Given the description of an element on the screen output the (x, y) to click on. 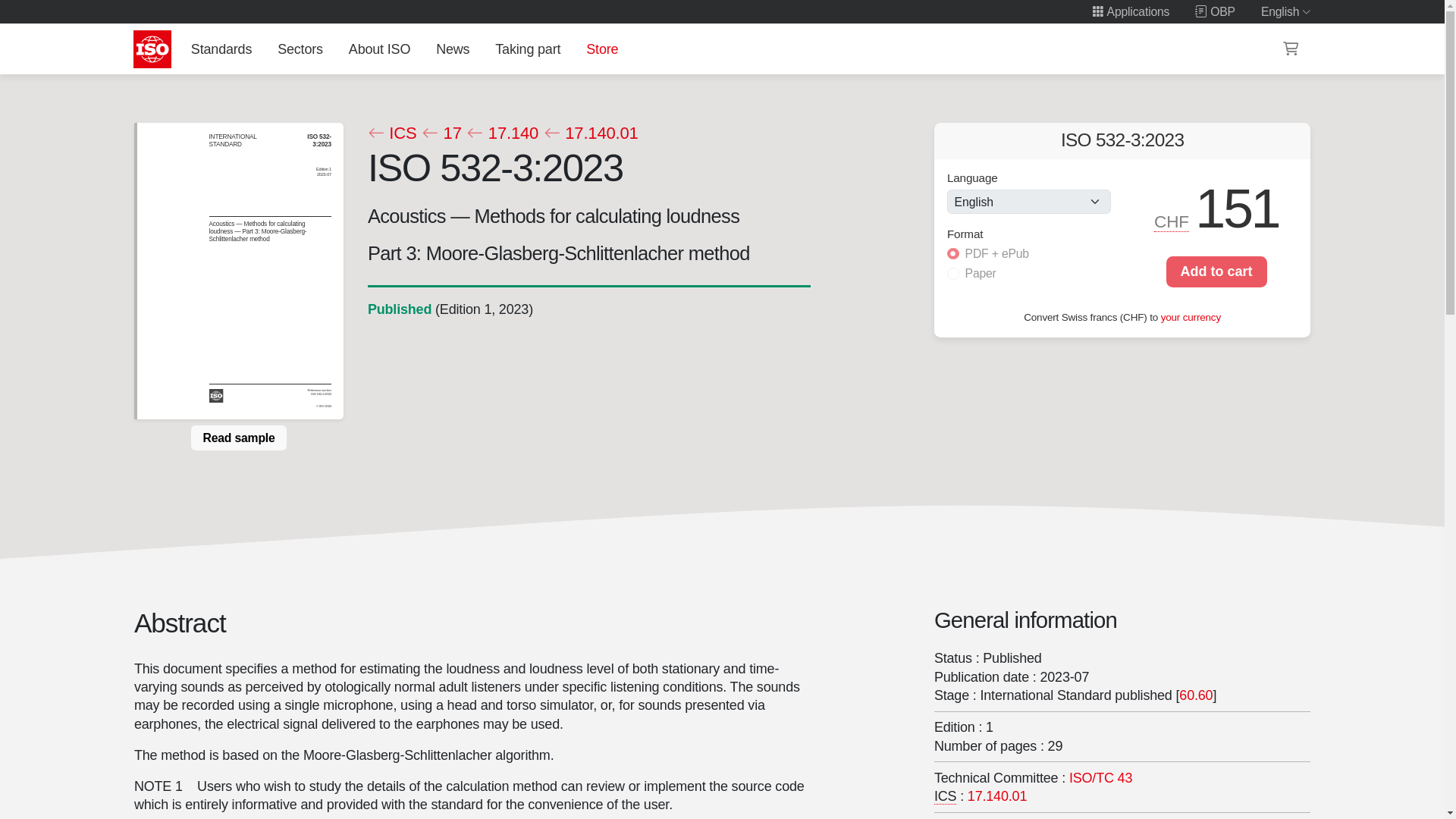
ISO's applications portal (1130, 11)
Store (601, 48)
Published (398, 309)
17.140.01 (997, 795)
Acoustics (1100, 777)
Standards (220, 48)
 Applications (1130, 11)
 OBP (1214, 11)
ICS (391, 133)
60.60 (1195, 694)
